Given the description of an element on the screen output the (x, y) to click on. 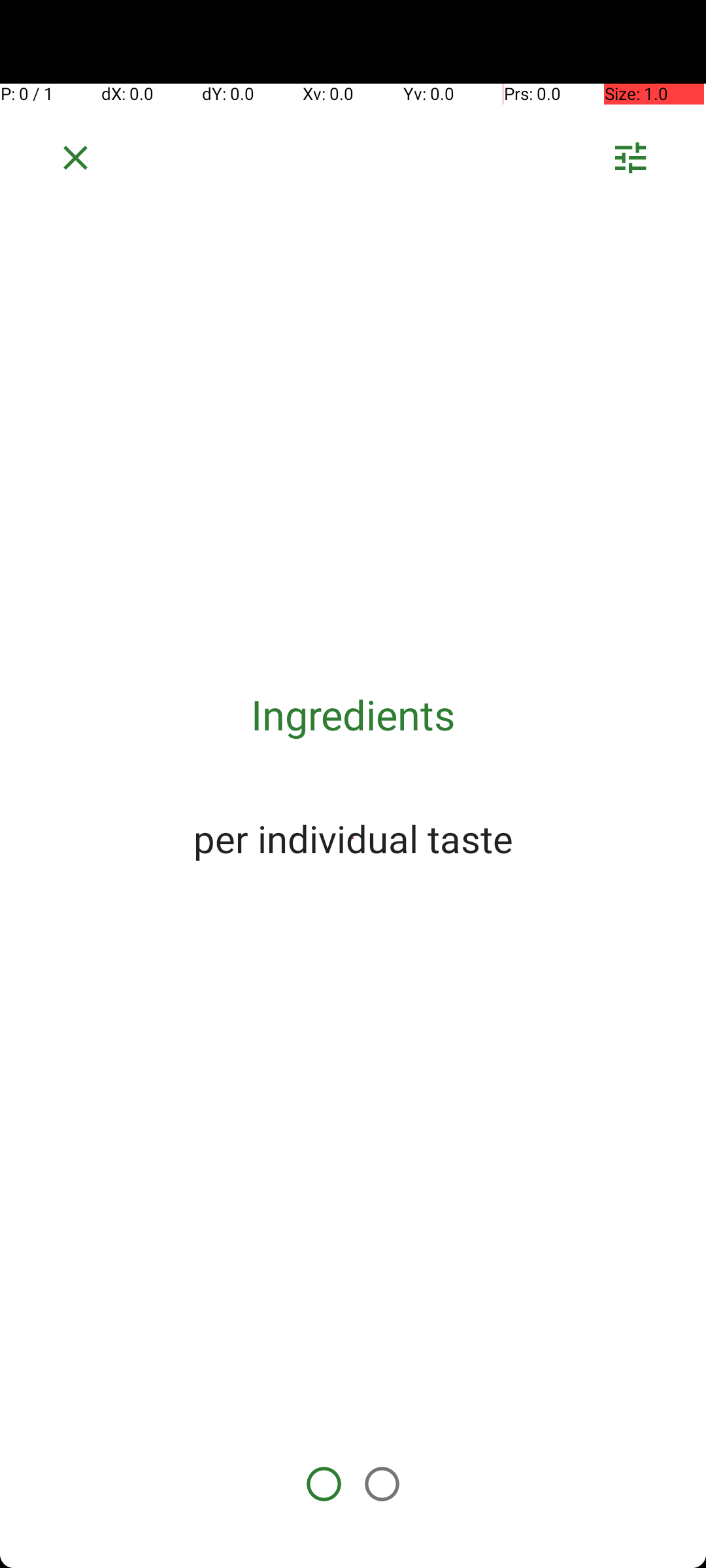
per individual taste Element type: android.widget.TextView (353, 838)
